Given the description of an element on the screen output the (x, y) to click on. 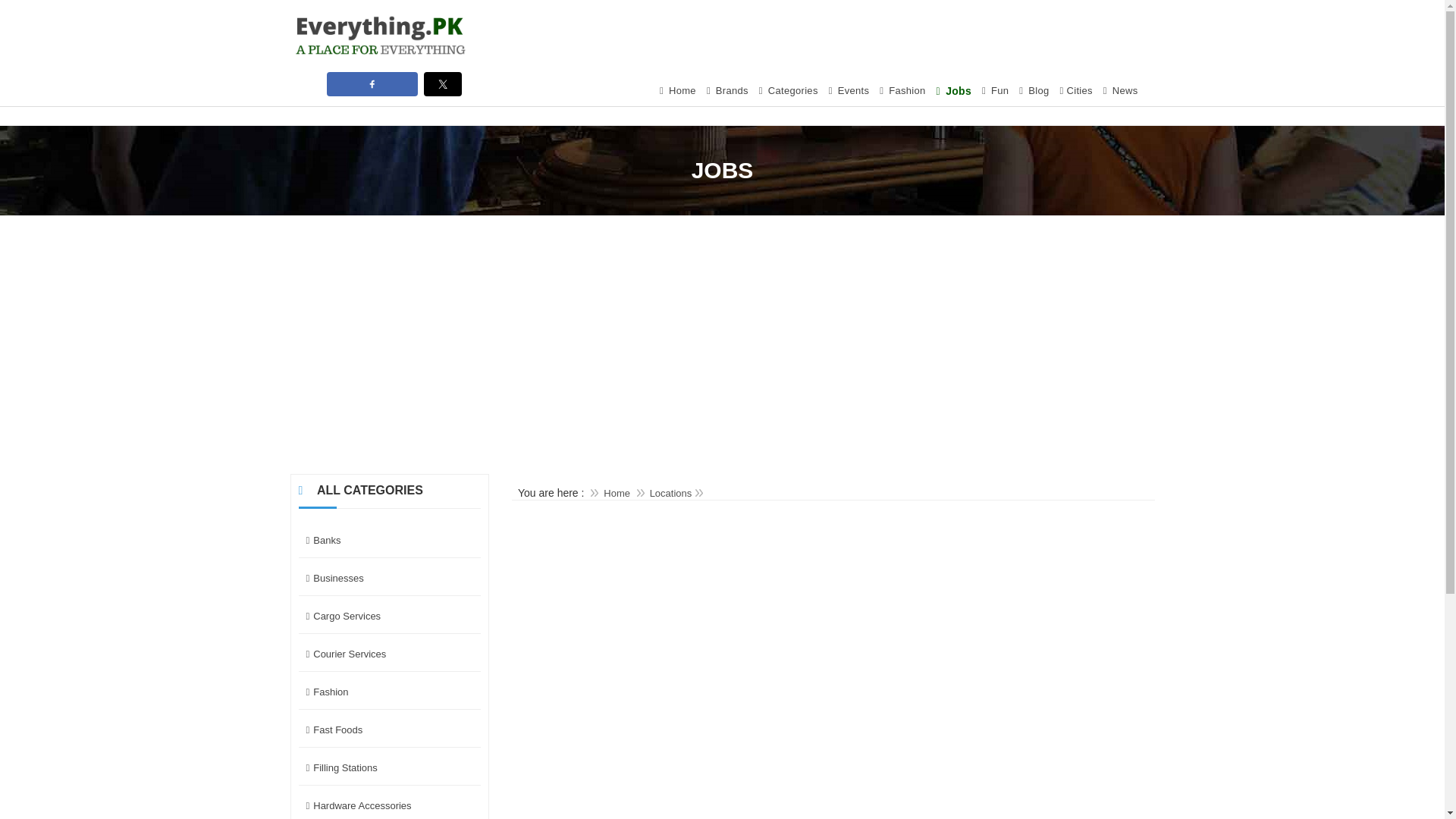
Fashion (389, 692)
All Jobs (953, 91)
Fashion Stuff (902, 90)
fast foods (389, 730)
Fashion (902, 90)
businesses (389, 578)
All Brands (727, 90)
Cities (1075, 90)
Fun (994, 90)
Advertisement (881, 33)
